Given the description of an element on the screen output the (x, y) to click on. 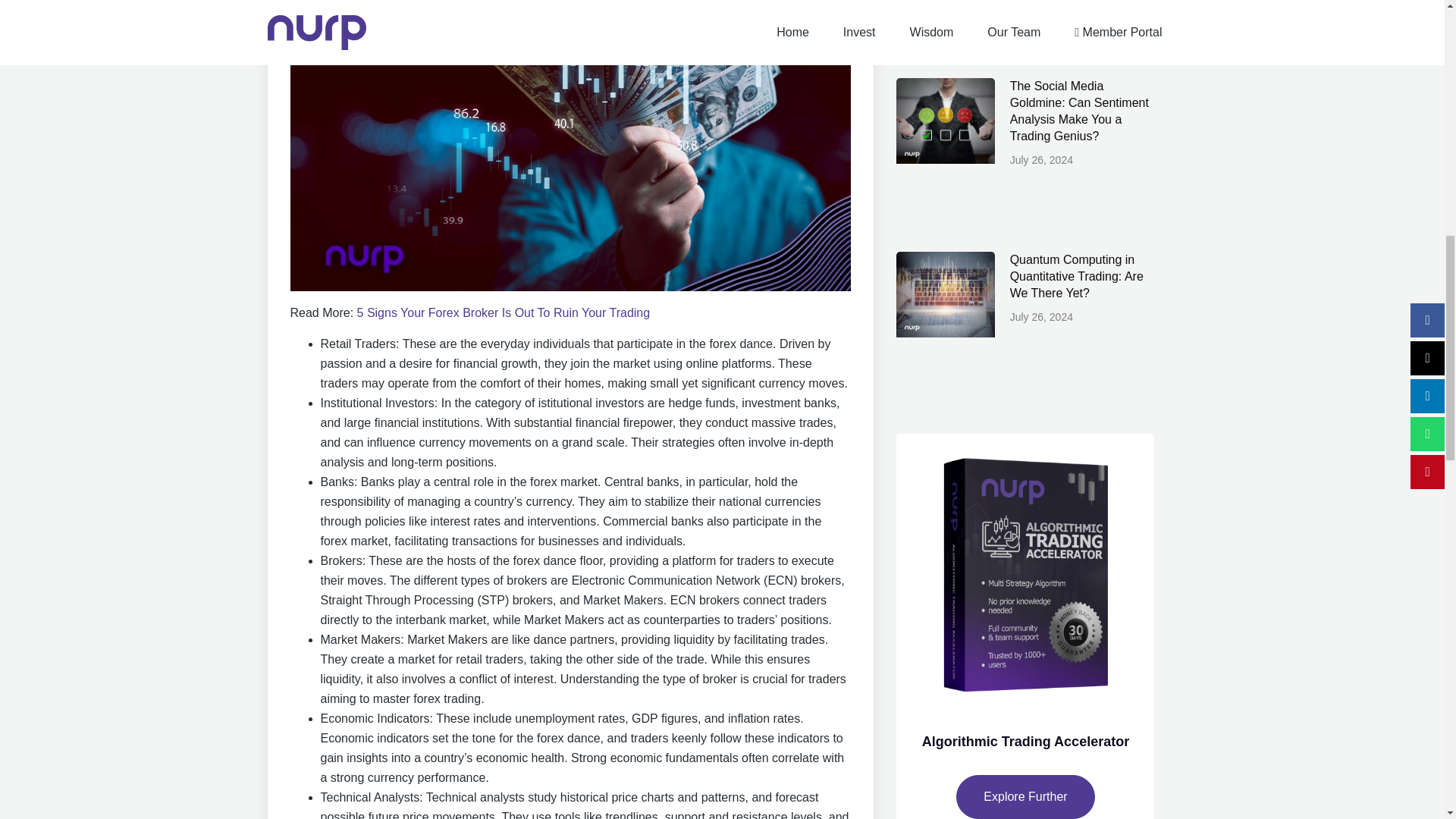
5 Signs Your Forex Broker Is Out To Ruin Your Trading (503, 312)
